Given the description of an element on the screen output the (x, y) to click on. 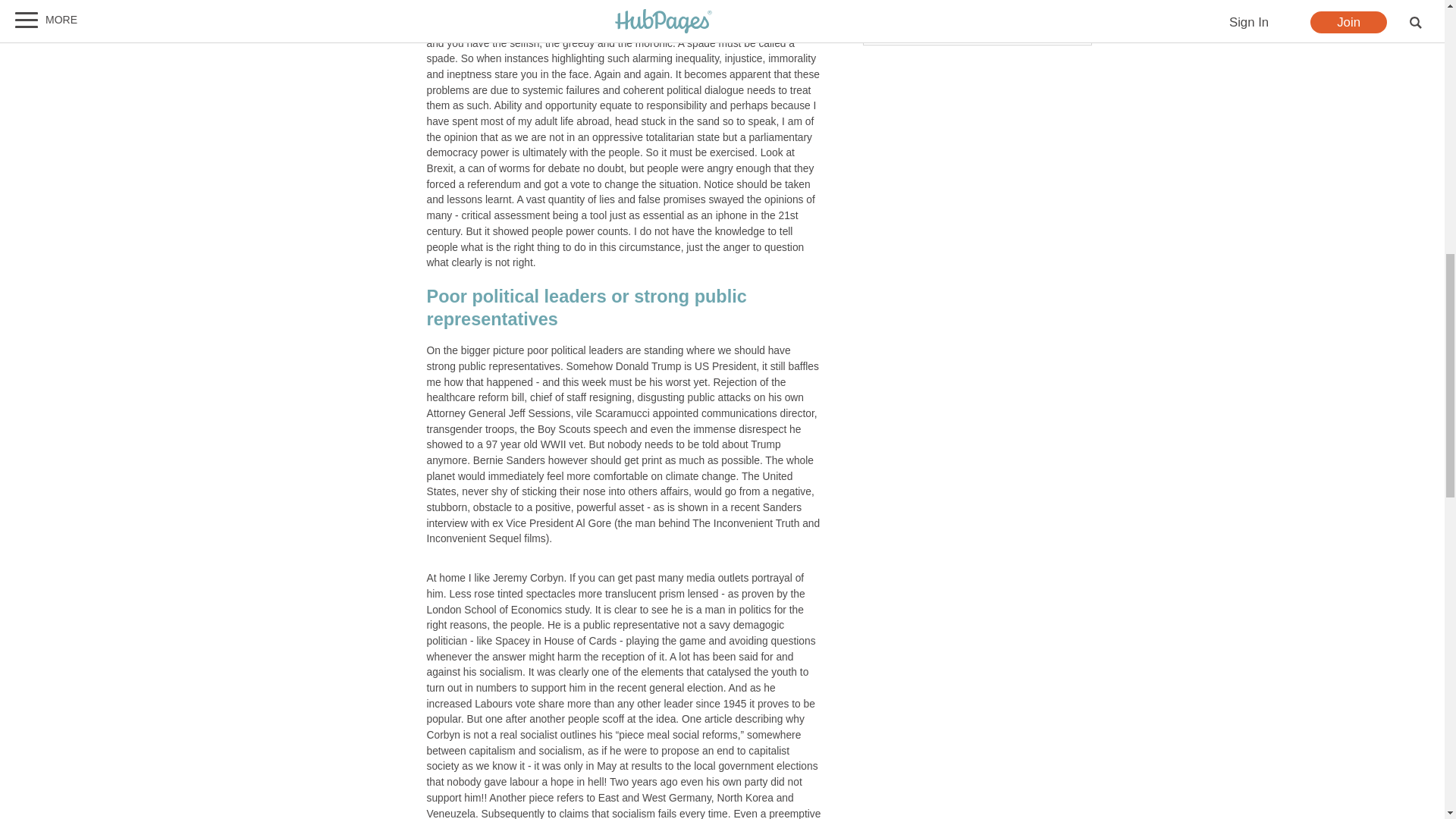
Jeremy Corbyn Labour Party Leader, Hero or Villain? (898, 3)
